Given the description of an element on the screen output the (x, y) to click on. 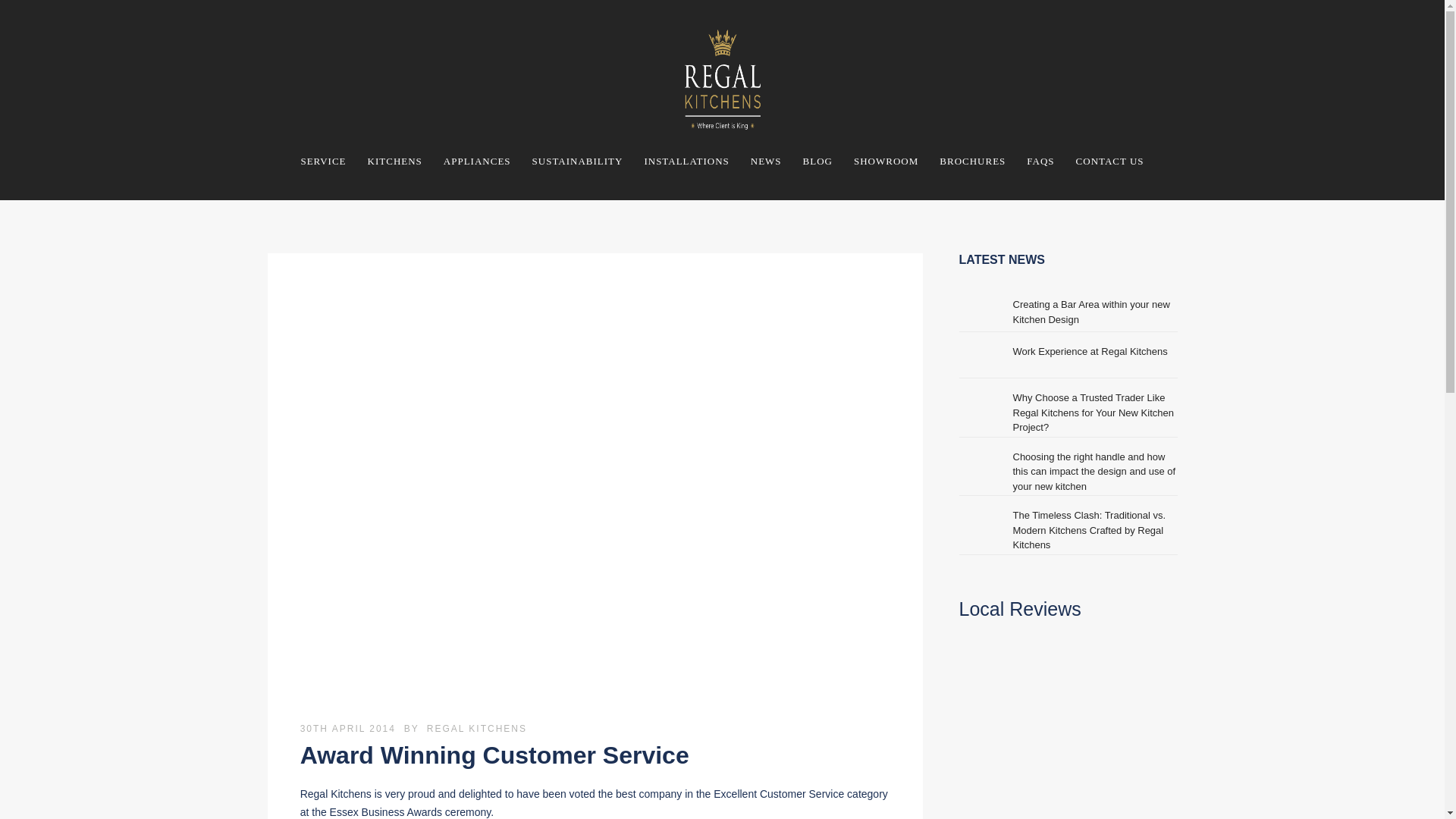
INSTALLATIONS (686, 161)
Page 2 (594, 802)
BLOG (817, 161)
Creating a Bar Area within your new Kitchen Design (1091, 311)
SHOWROOM (885, 161)
SERVICE (322, 161)
NEWS (765, 161)
FAQS (1040, 161)
CONTACT US (1109, 161)
SUSTAINABILITY (577, 161)
APPLIANCES (476, 161)
BROCHURES (972, 161)
